Given the description of an element on the screen output the (x, y) to click on. 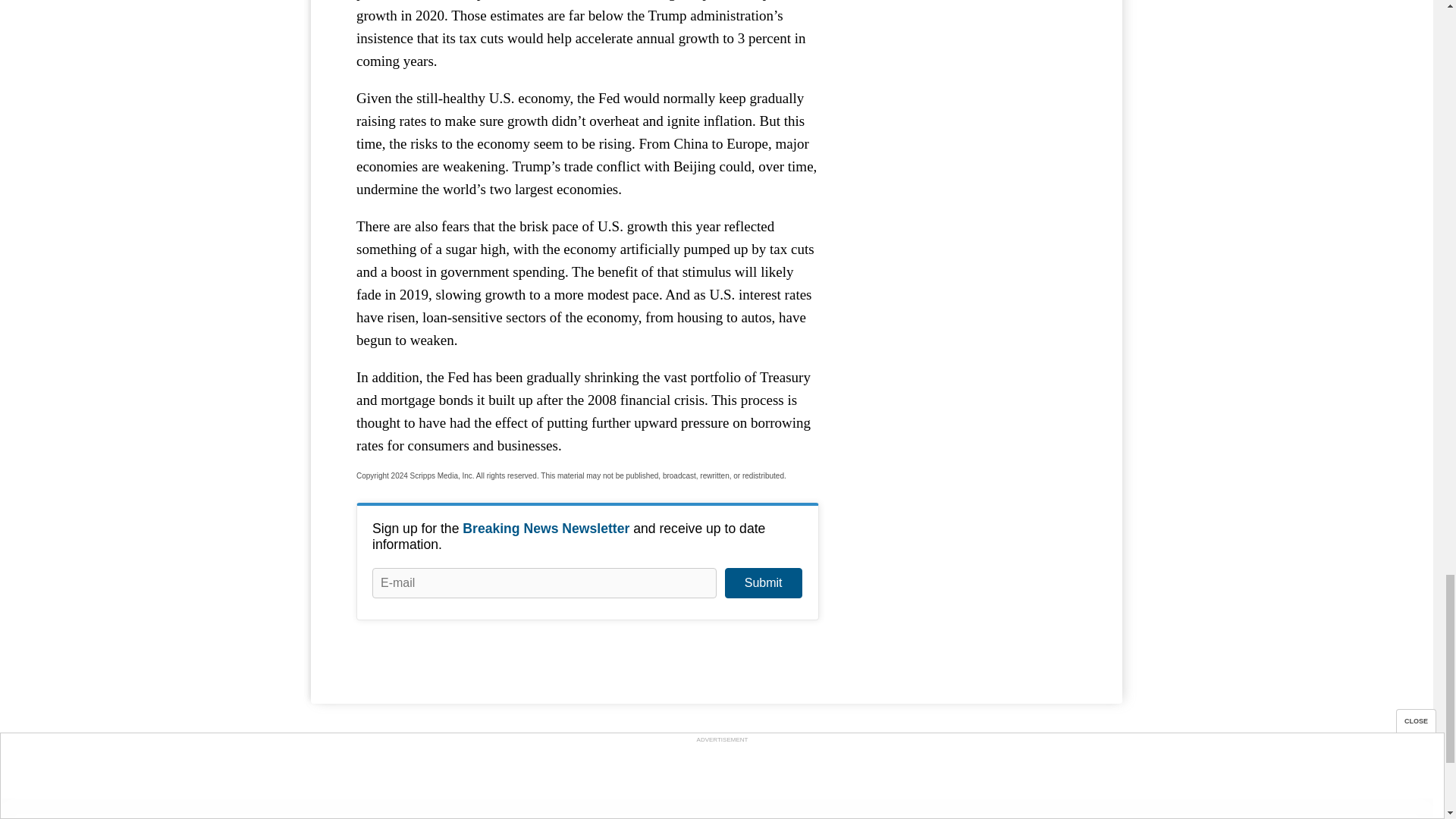
Submit (763, 583)
